Given the description of an element on the screen output the (x, y) to click on. 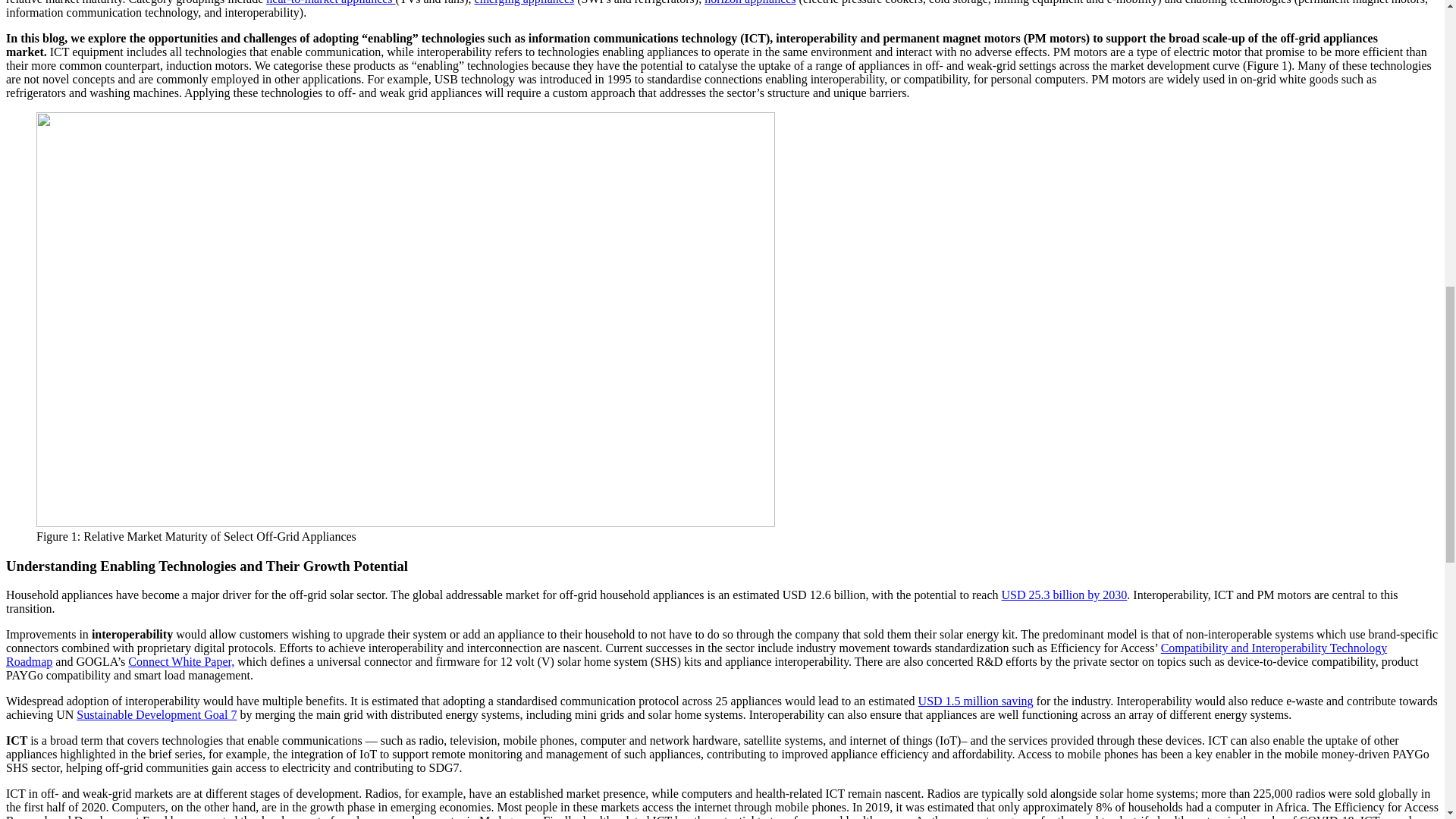
horizon appliances (749, 2)
emerging appliances (524, 2)
near-to-market appliances  (330, 2)
